Given the description of an element on the screen output the (x, y) to click on. 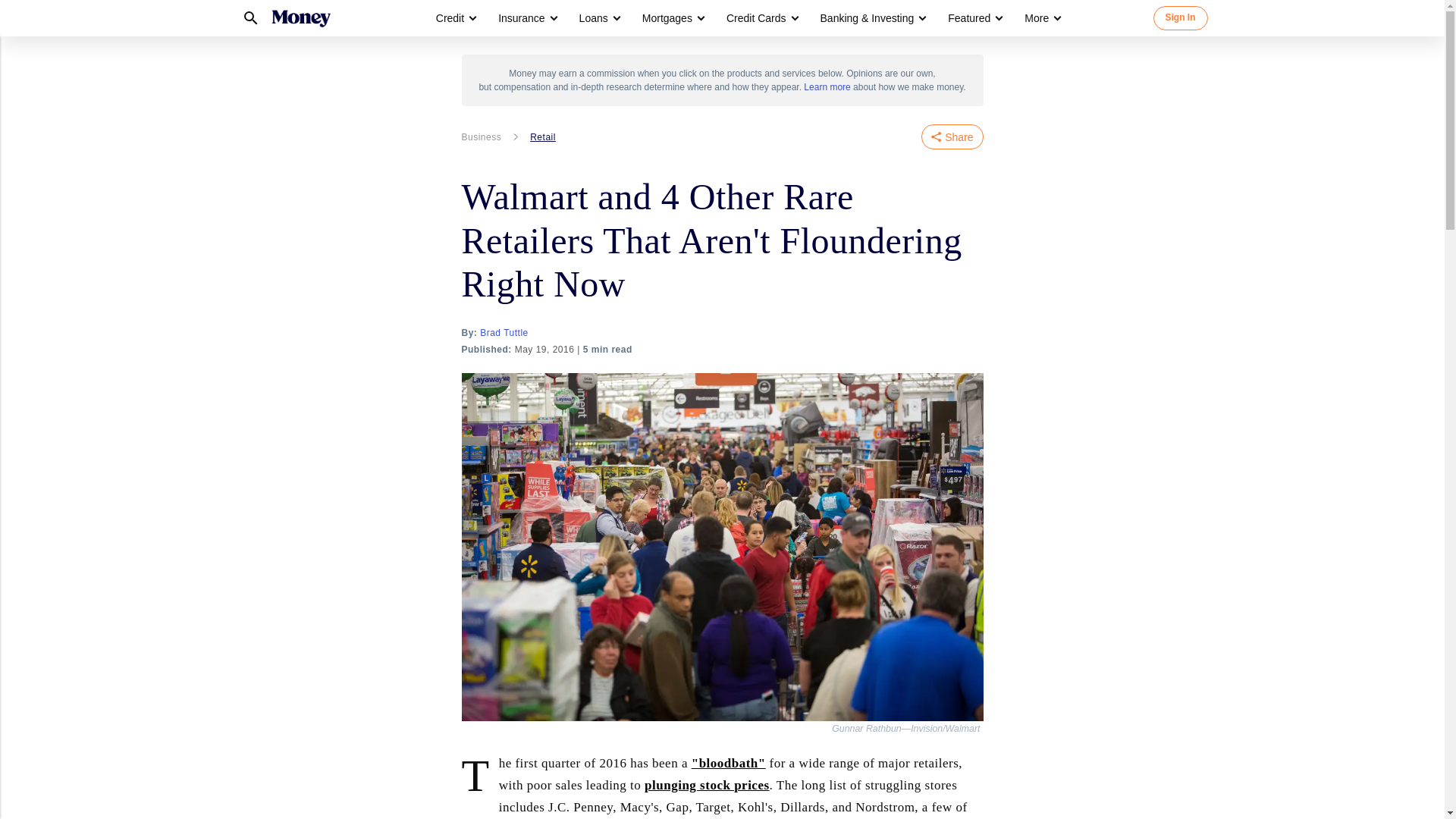
Loans (593, 18)
Insurance (526, 18)
Loans (598, 18)
Insurance (520, 18)
Credit Cards (761, 18)
Mortgages (667, 18)
Mortgages (672, 18)
Credit Cards (756, 18)
Credit (455, 18)
Credit (449, 18)
